Given the description of an element on the screen output the (x, y) to click on. 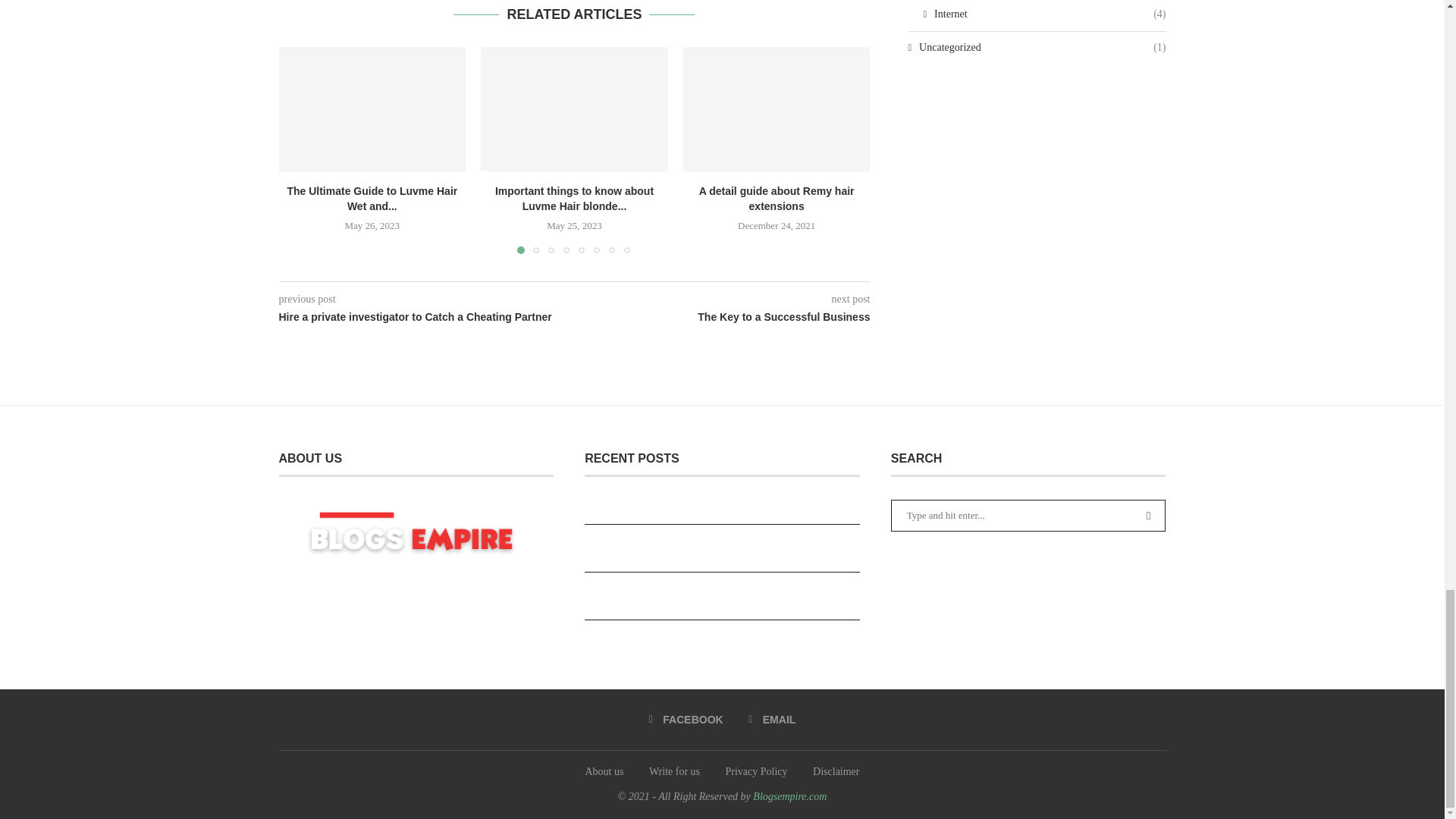
The Ultimate Guide to Luvme Hair Wet and Wavy Wig (372, 108)
Important things to know about Luvme Hair blonde 613 wig (574, 108)
A detail guide about Remy hair extensions (776, 108)
